Given the description of an element on the screen output the (x, y) to click on. 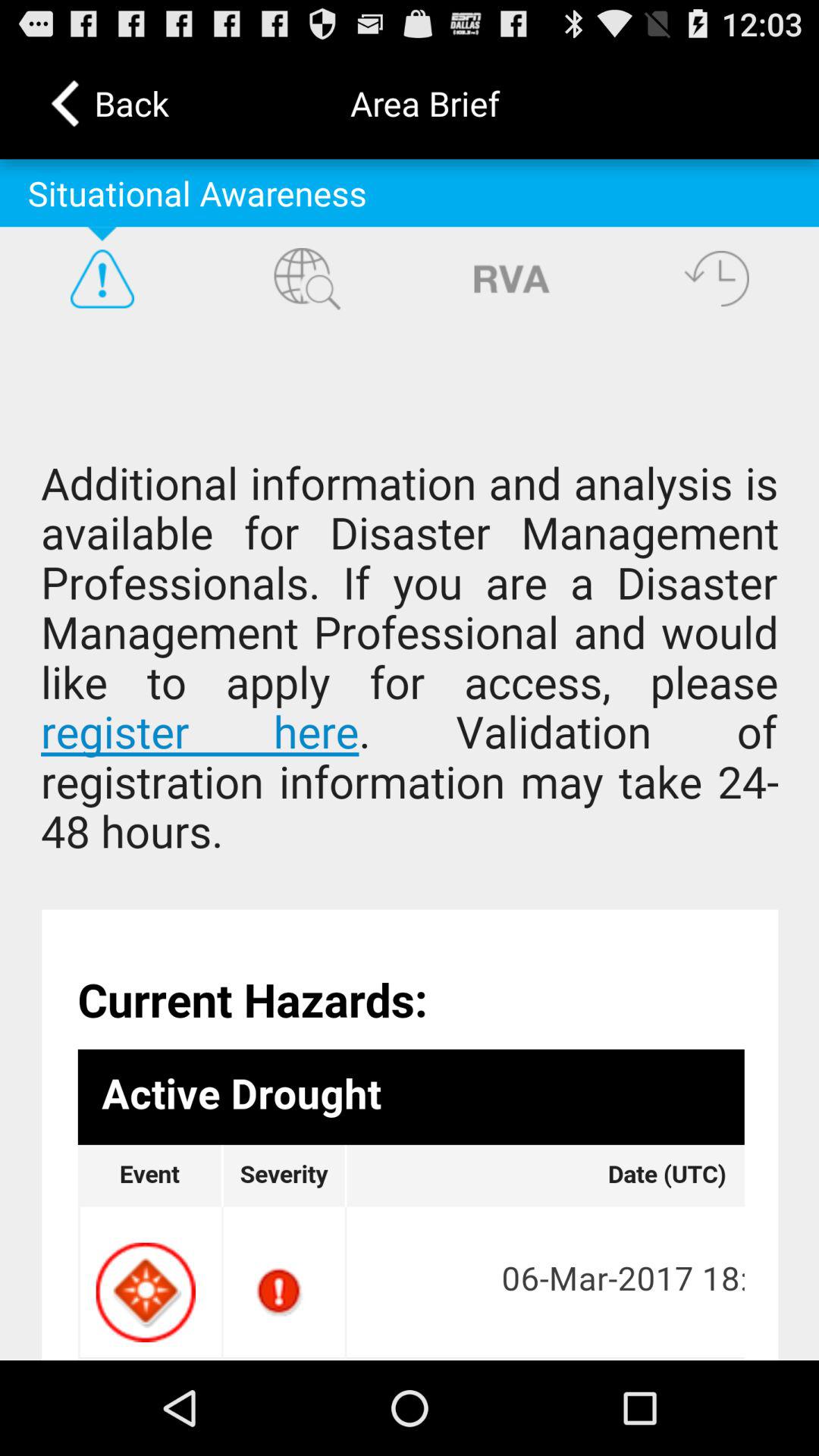
choose this (409, 845)
